Given the description of an element on the screen output the (x, y) to click on. 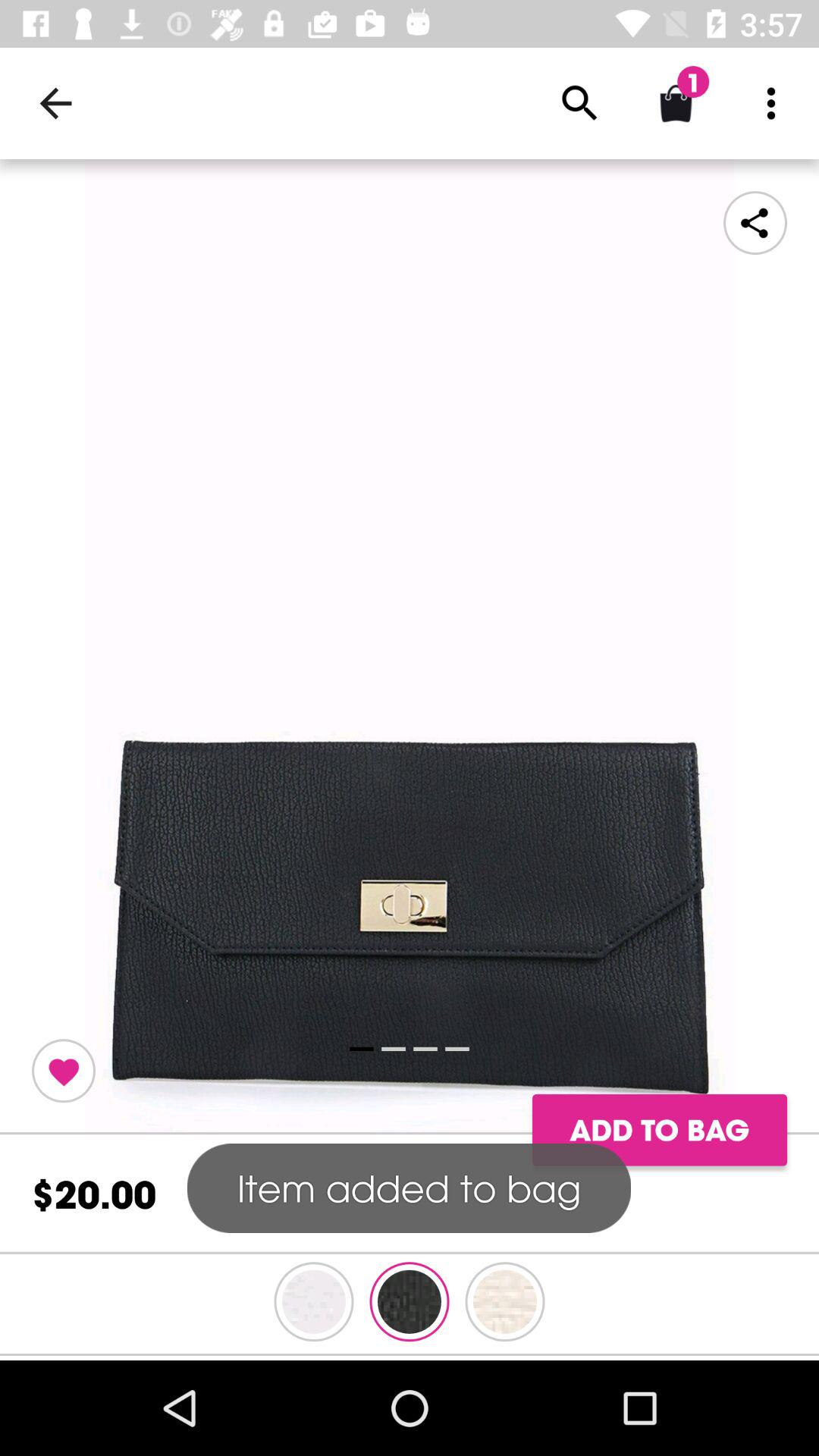
open bag (409, 646)
